Given the description of an element on the screen output the (x, y) to click on. 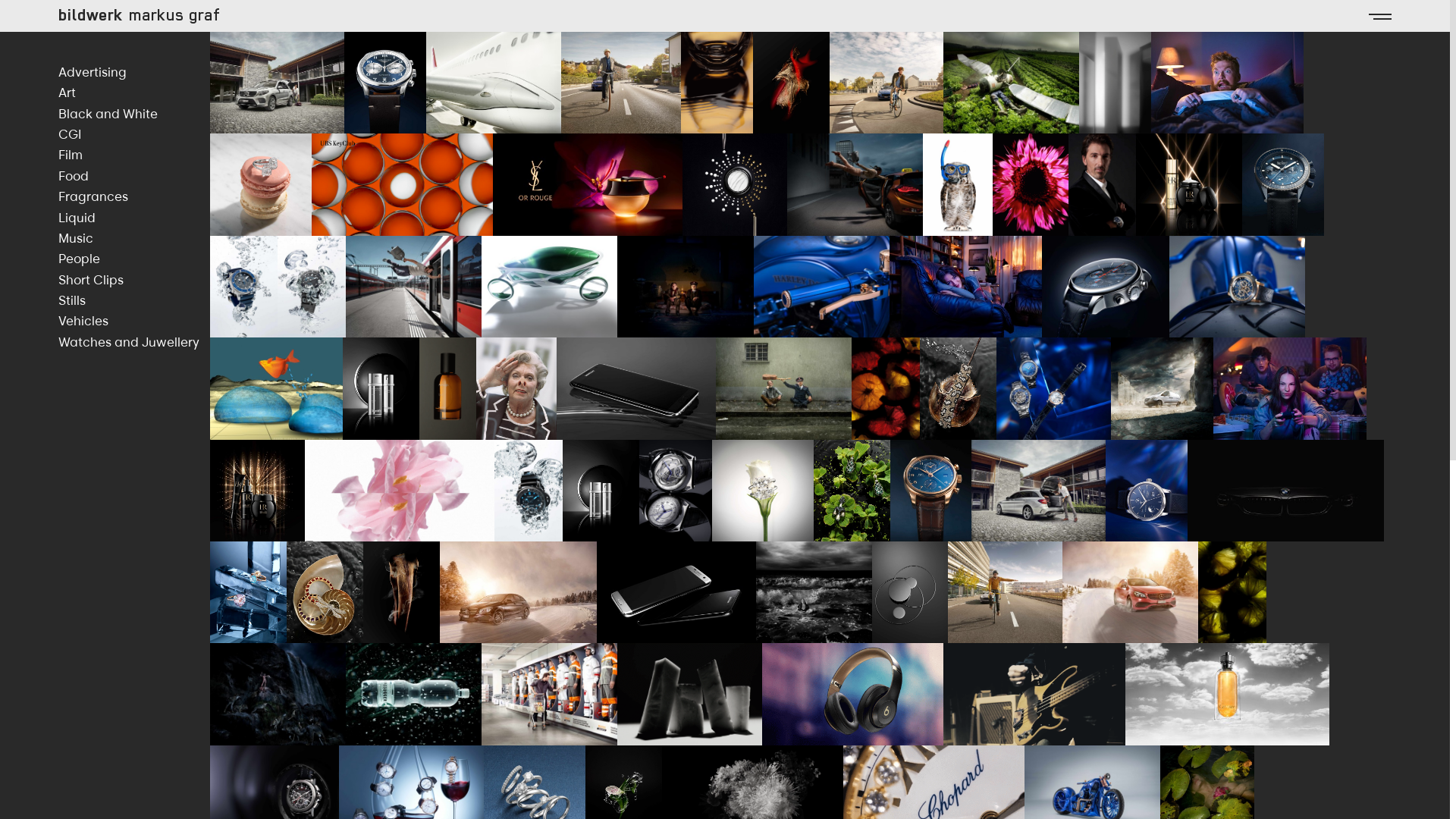
Stills Element type: text (134, 299)
Short Clips Element type: text (134, 279)
CGI Element type: text (134, 133)
Music Element type: text (134, 237)
People Element type: text (134, 258)
Fragrances Element type: text (134, 196)
Watches and Juwellery Element type: text (134, 341)
Advertising Element type: text (134, 71)
Liquid Element type: text (134, 217)
Film Element type: text (134, 154)
Black and White Element type: text (134, 113)
Vehicles Element type: text (134, 320)
Food Element type: text (134, 175)
  Element type: text (1379, 15)
Art Element type: text (134, 92)
